Given the description of an element on the screen output the (x, y) to click on. 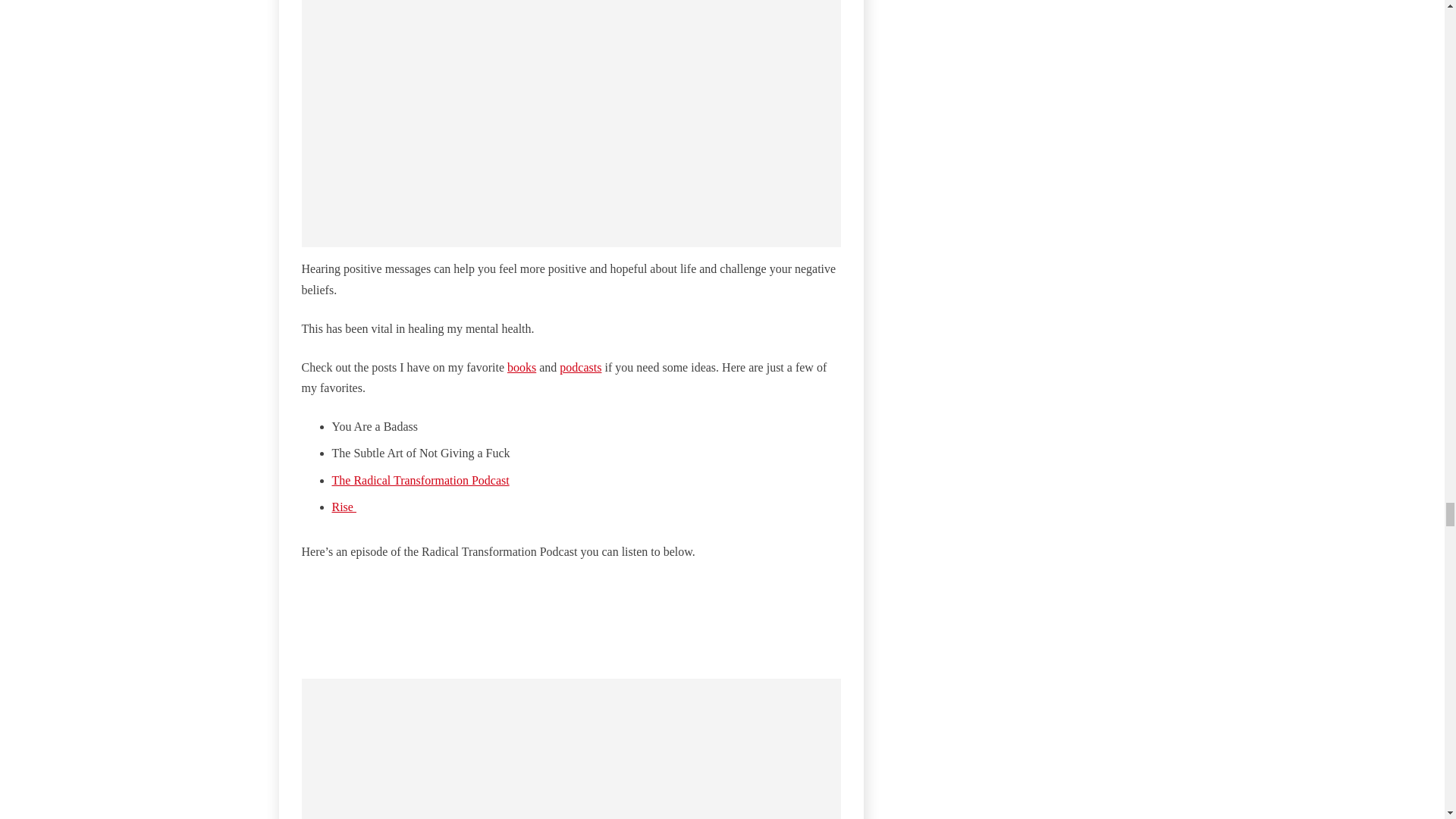
books (520, 367)
podcasts (580, 367)
The Radical Transformation Podcast (420, 480)
Rise  (343, 506)
Personal Revolution (571, 607)
